Given the description of an element on the screen output the (x, y) to click on. 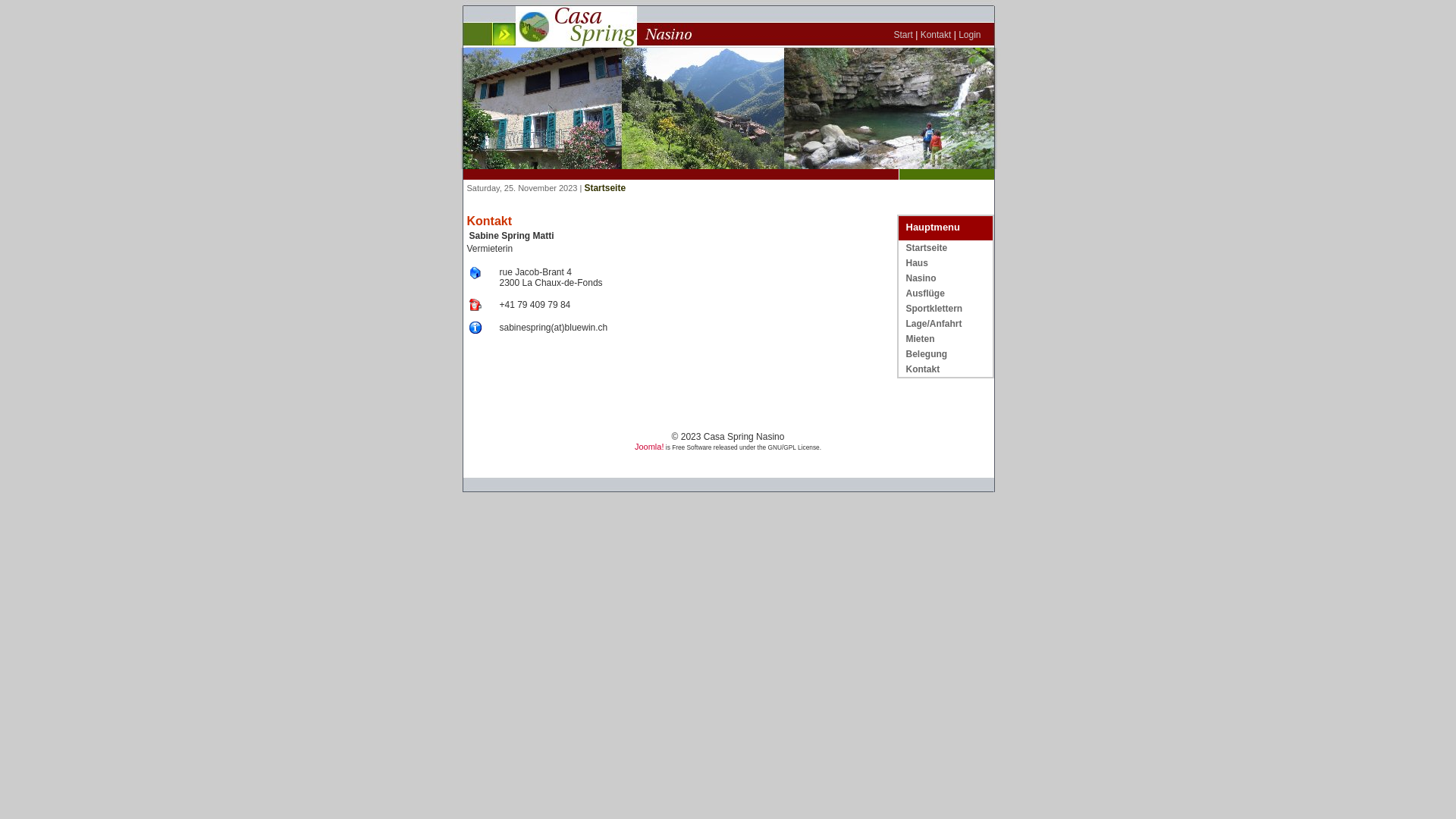
Haus Element type: text (916, 262)
Joomla! Element type: text (649, 446)
Nasino Element type: text (920, 278)
Start Element type: text (902, 34)
Startseite Element type: text (926, 247)
Lage/Anfahrt Element type: text (933, 323)
Kontakt Element type: text (922, 369)
Belegung Element type: text (926, 353)
Kontakt Element type: text (935, 34)
Sportklettern Element type: text (933, 308)
Mieten Element type: text (919, 338)
Login Element type: text (969, 34)
